Given the description of an element on the screen output the (x, y) to click on. 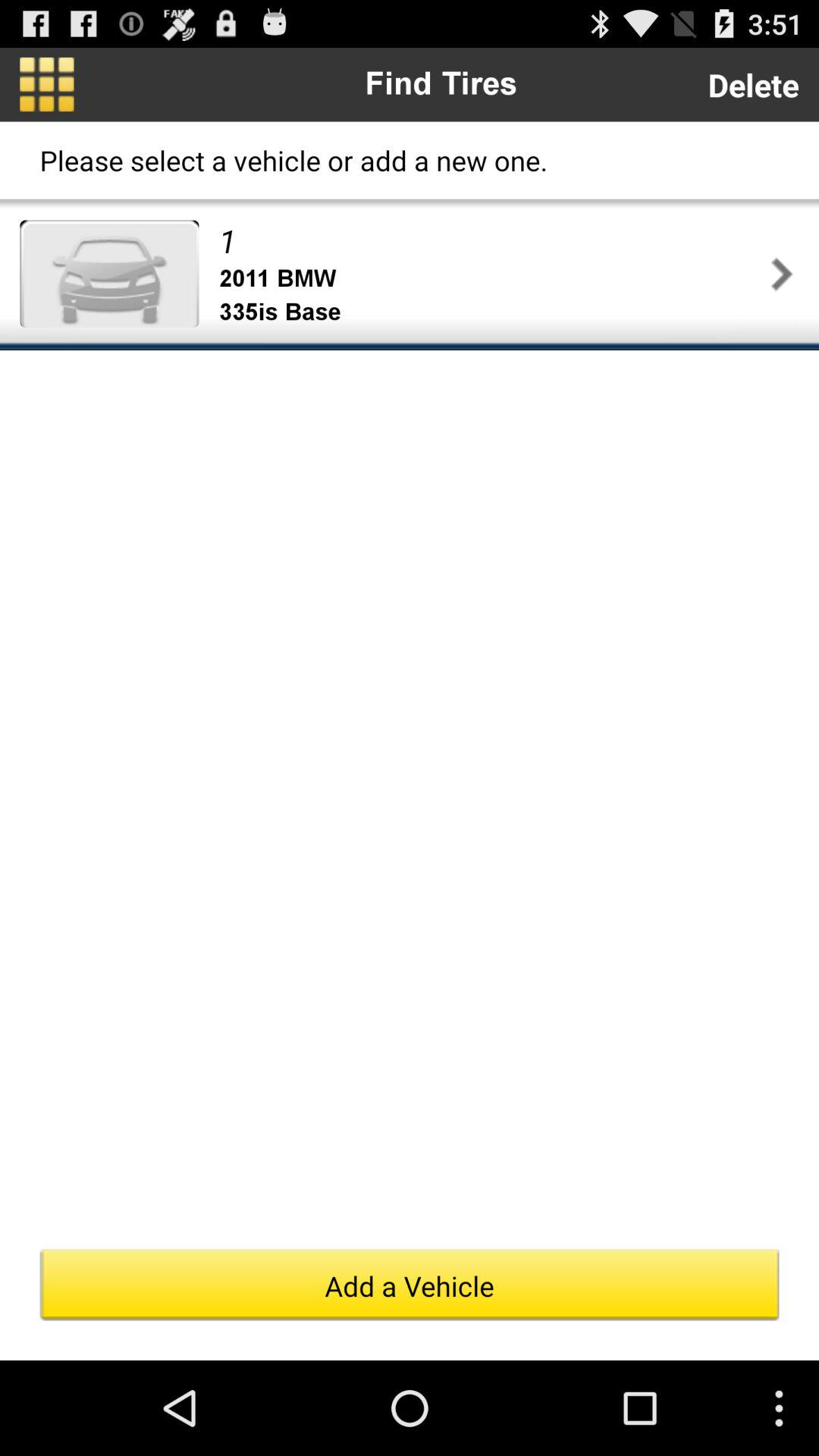
select the icon above the please select a icon (46, 84)
